Given the description of an element on the screen output the (x, y) to click on. 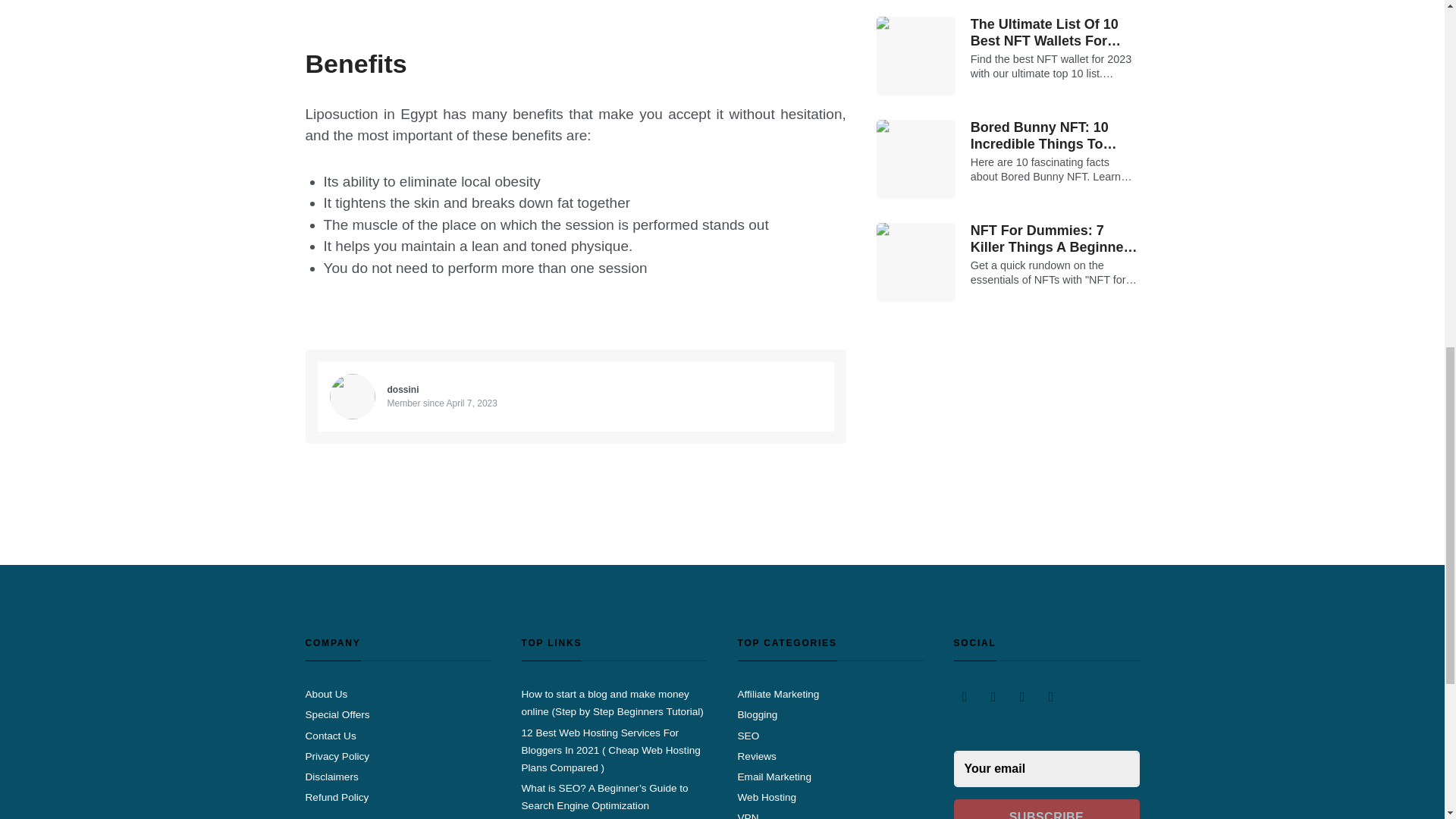
dossini (403, 389)
The Ultimate List Of 10 Best NFT Wallets For 2023 (1055, 32)
